Given the description of an element on the screen output the (x, y) to click on. 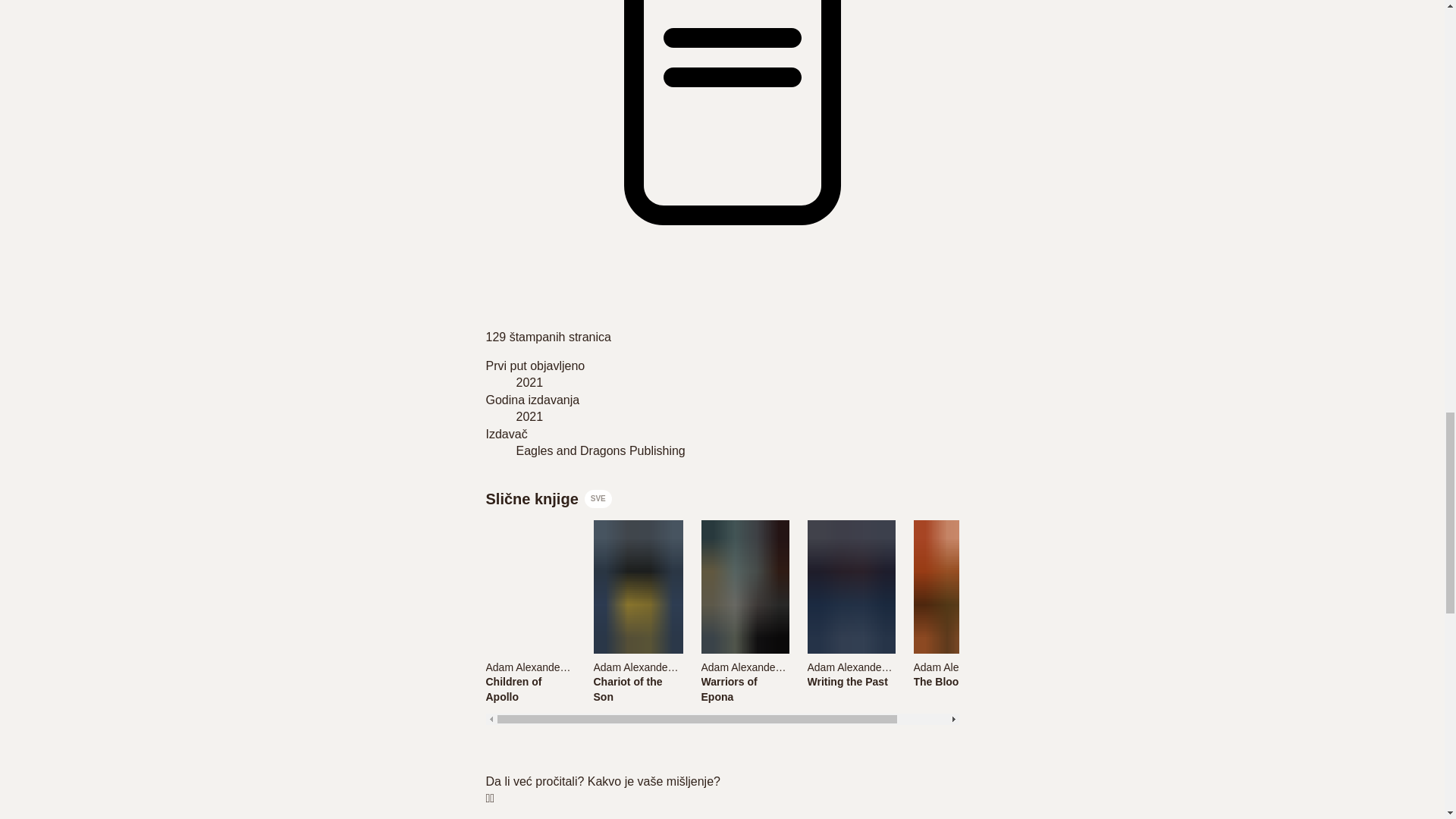
The Blood Road (955, 681)
The Blood Road (955, 681)
Adam Alexander Haviaras (849, 666)
Writing the Past (849, 681)
Adam Alexander Haviaras (654, 666)
Writing the Past (849, 681)
Adam Alexander Haviaras (636, 666)
Adam Alexander Haviaras (528, 666)
Adam Alexander Haviaras (546, 666)
Children of Apollo (528, 689)
Adam Alexander Haviaras (955, 666)
Chariot of the Son (636, 689)
Warriors of Epona (743, 689)
Chariot of the Son (636, 689)
